Given the description of an element on the screen output the (x, y) to click on. 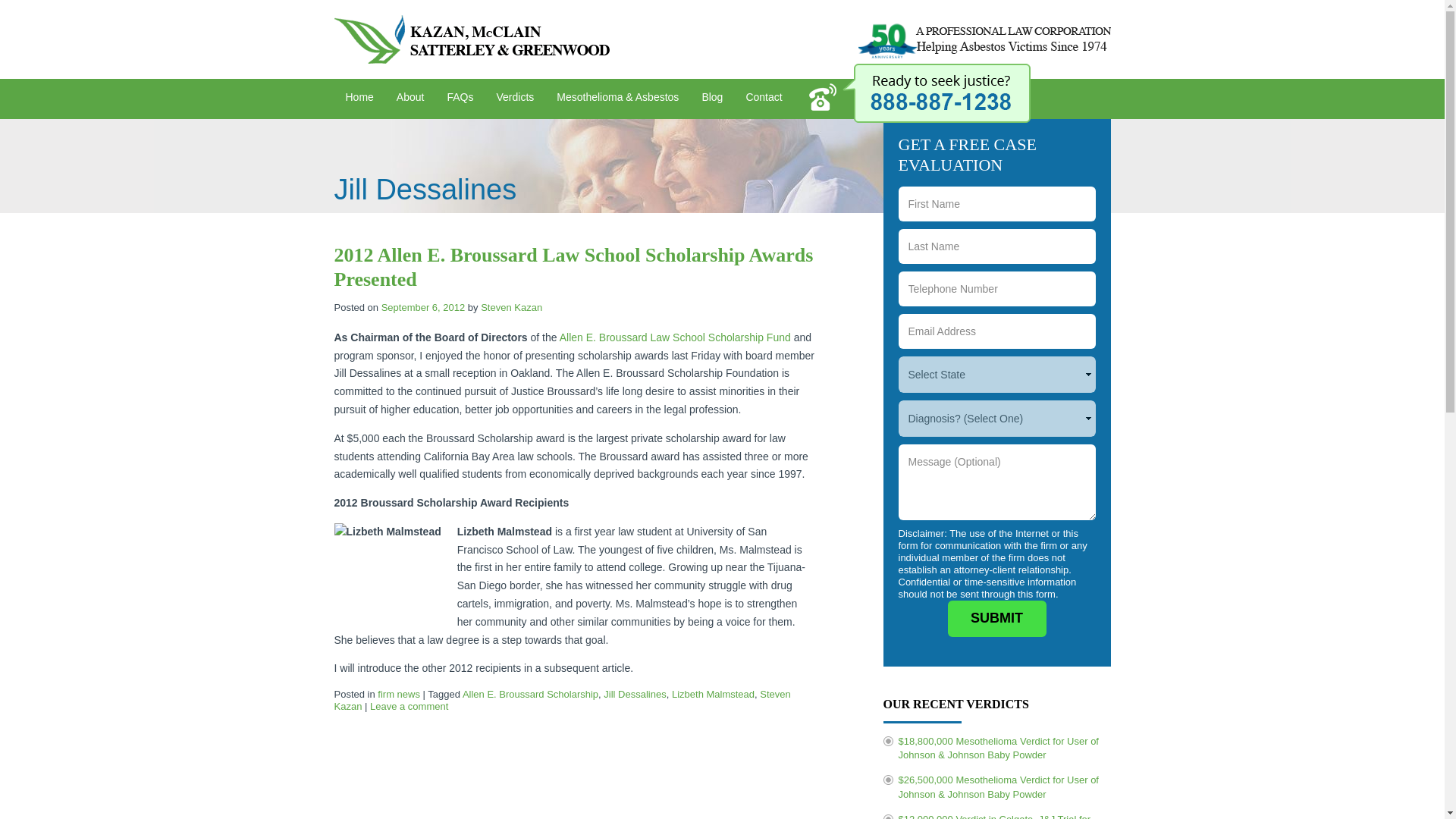
Allen E. Broussard Scholarship (530, 694)
September 6, 2012 (423, 307)
Verdicts (514, 98)
Blog (711, 98)
Home (358, 98)
FAQs (459, 98)
Jill Dessalines (634, 694)
4:37 pm (423, 307)
